Given the description of an element on the screen output the (x, y) to click on. 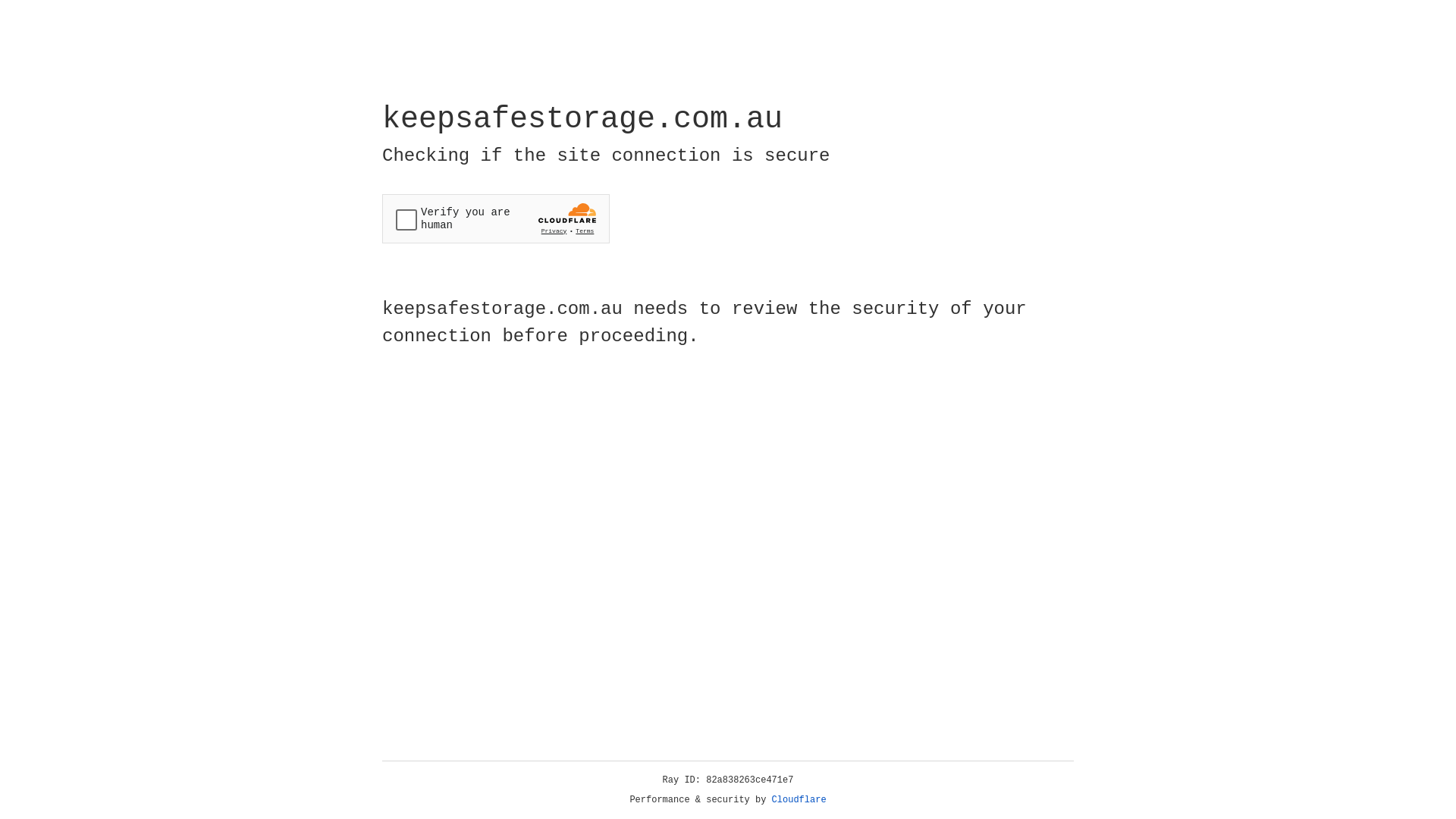
Widget containing a Cloudflare security challenge Element type: hover (495, 218)
Cloudflare Element type: text (798, 799)
